Given the description of an element on the screen output the (x, y) to click on. 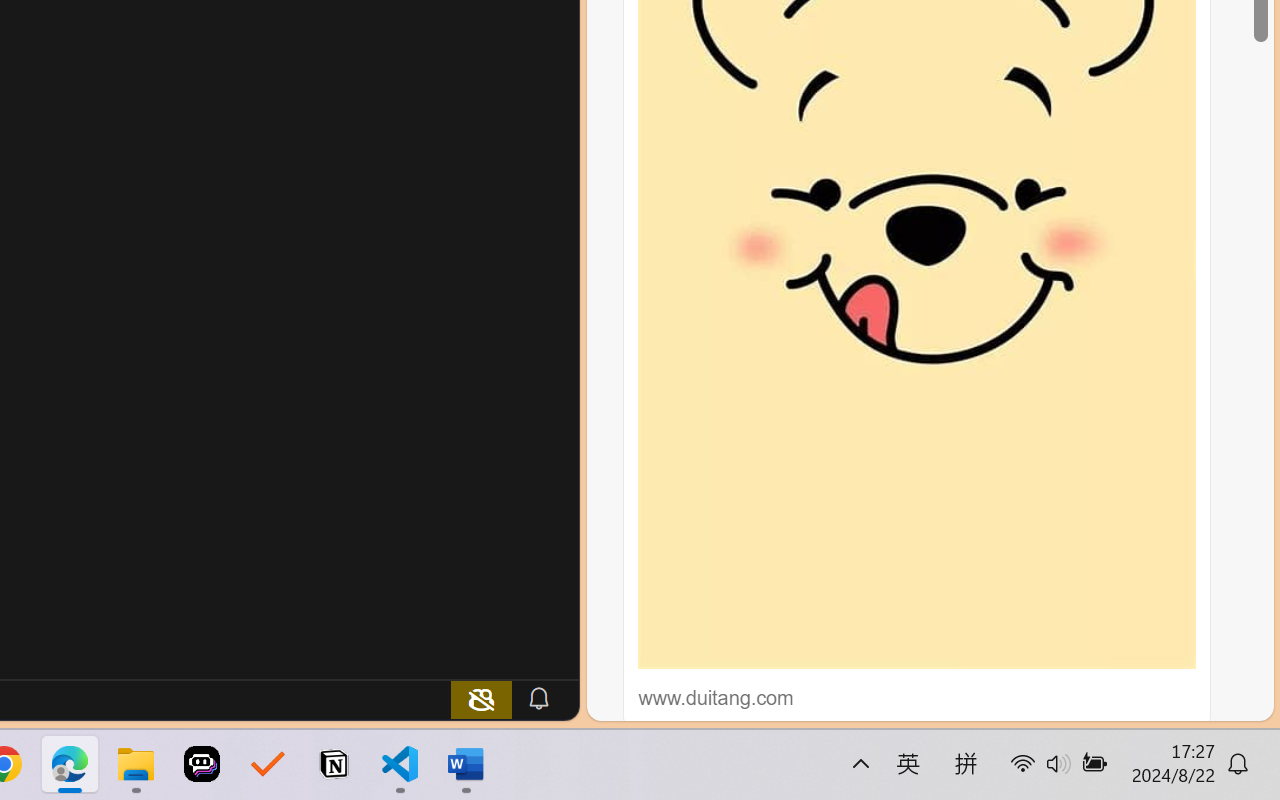
copilot-notconnected, Copilot error (click for details) (481, 698)
Notifications (537, 698)
